Given the description of an element on the screen output the (x, y) to click on. 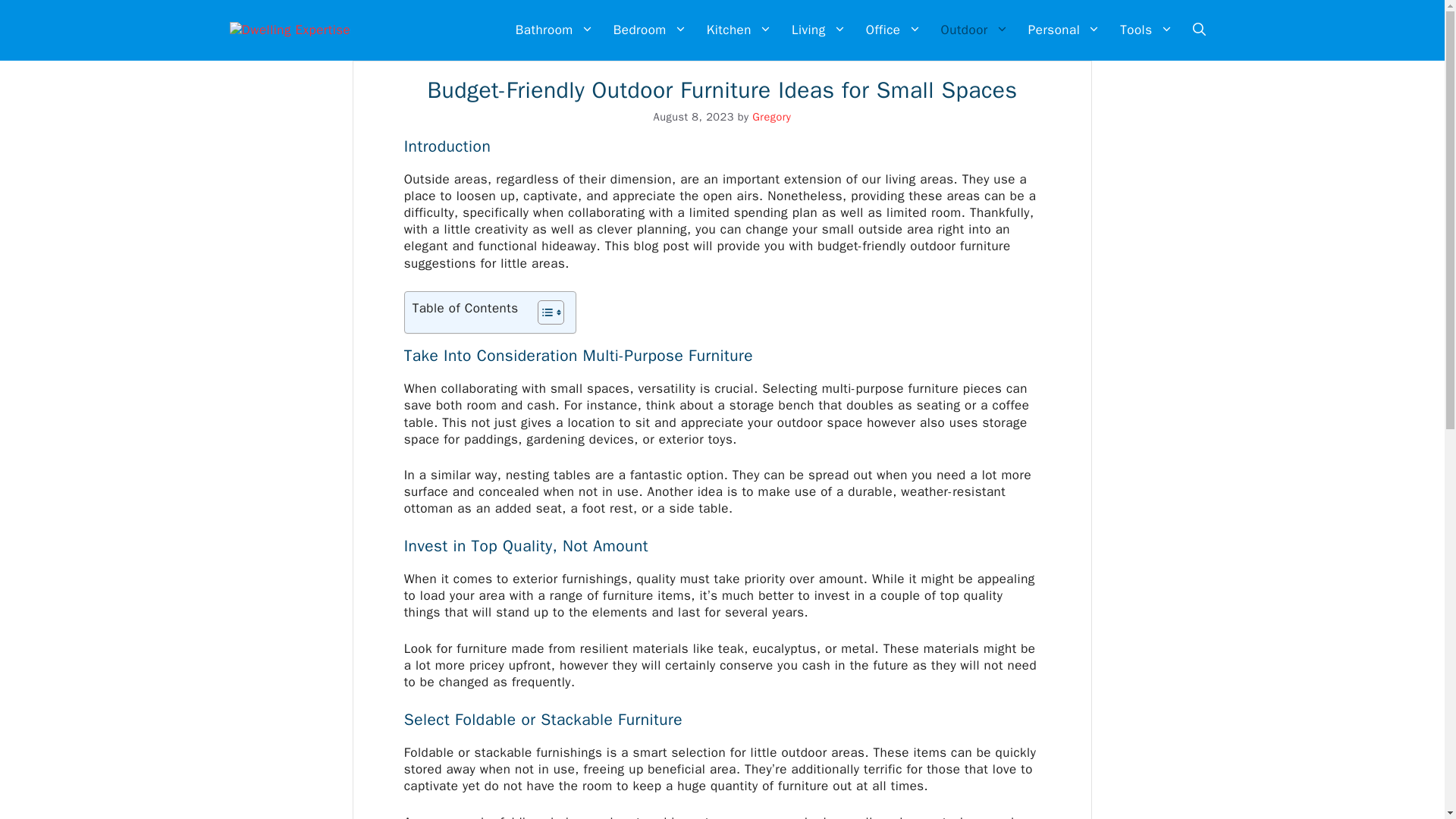
Kitchen (739, 30)
Office (893, 30)
Bathroom (554, 30)
Bedroom (650, 30)
Living (818, 30)
Outdoor (974, 30)
View all posts by Gregory (771, 116)
